Given the description of an element on the screen output the (x, y) to click on. 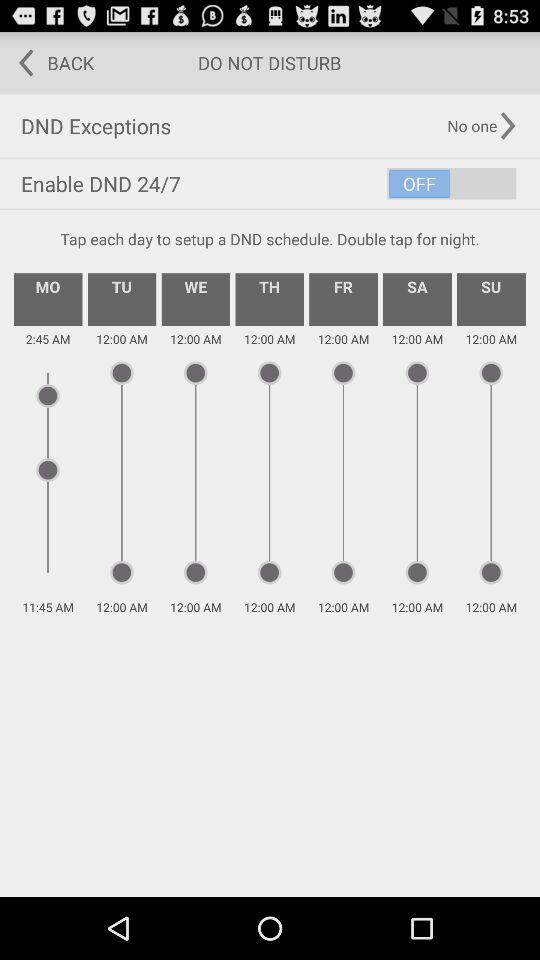
launch the item to the right of the 2:45 am (121, 299)
